Given the description of an element on the screen output the (x, y) to click on. 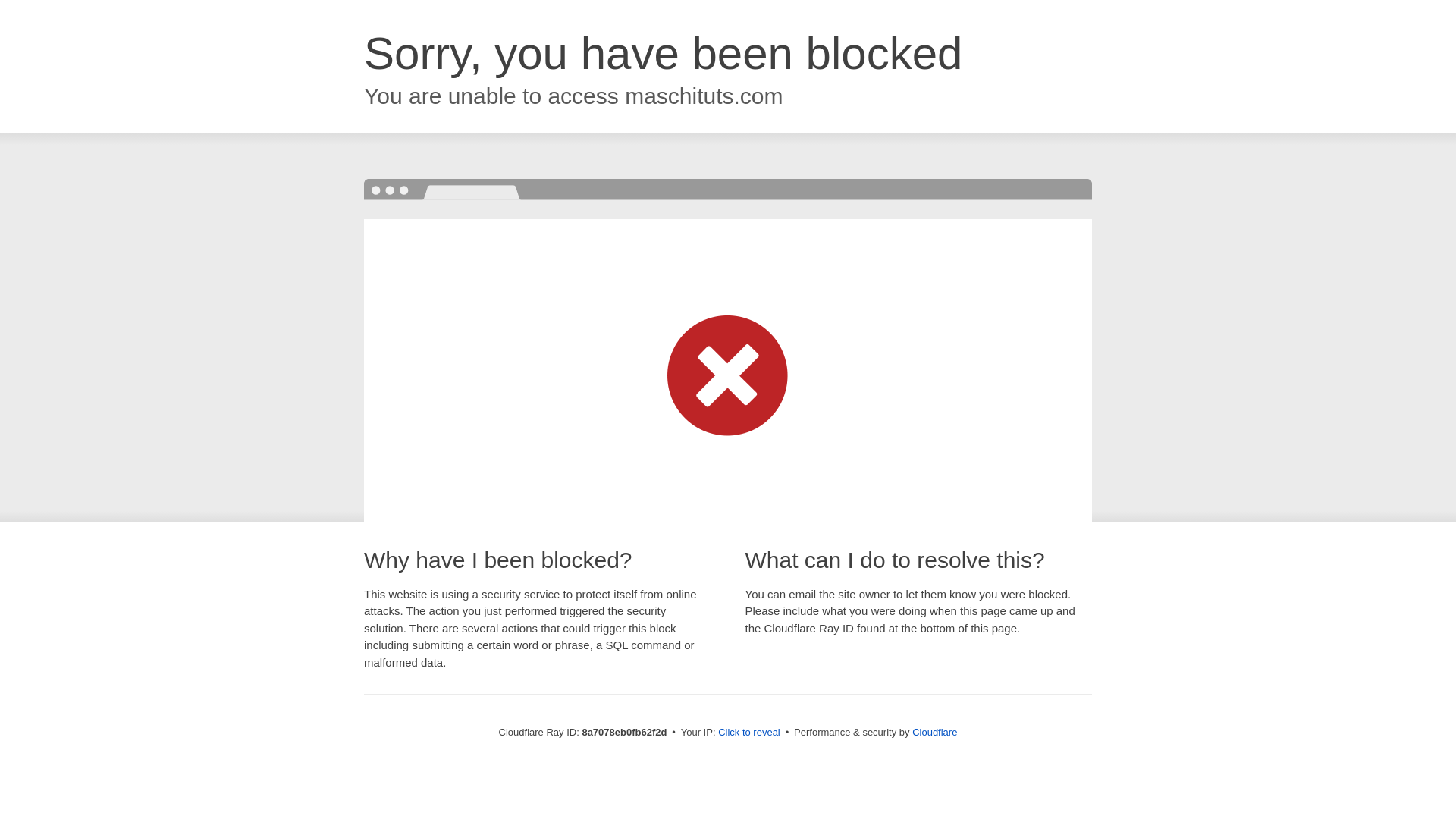
Cloudflare (934, 731)
Click to reveal (748, 732)
